Given the description of an element on the screen output the (x, y) to click on. 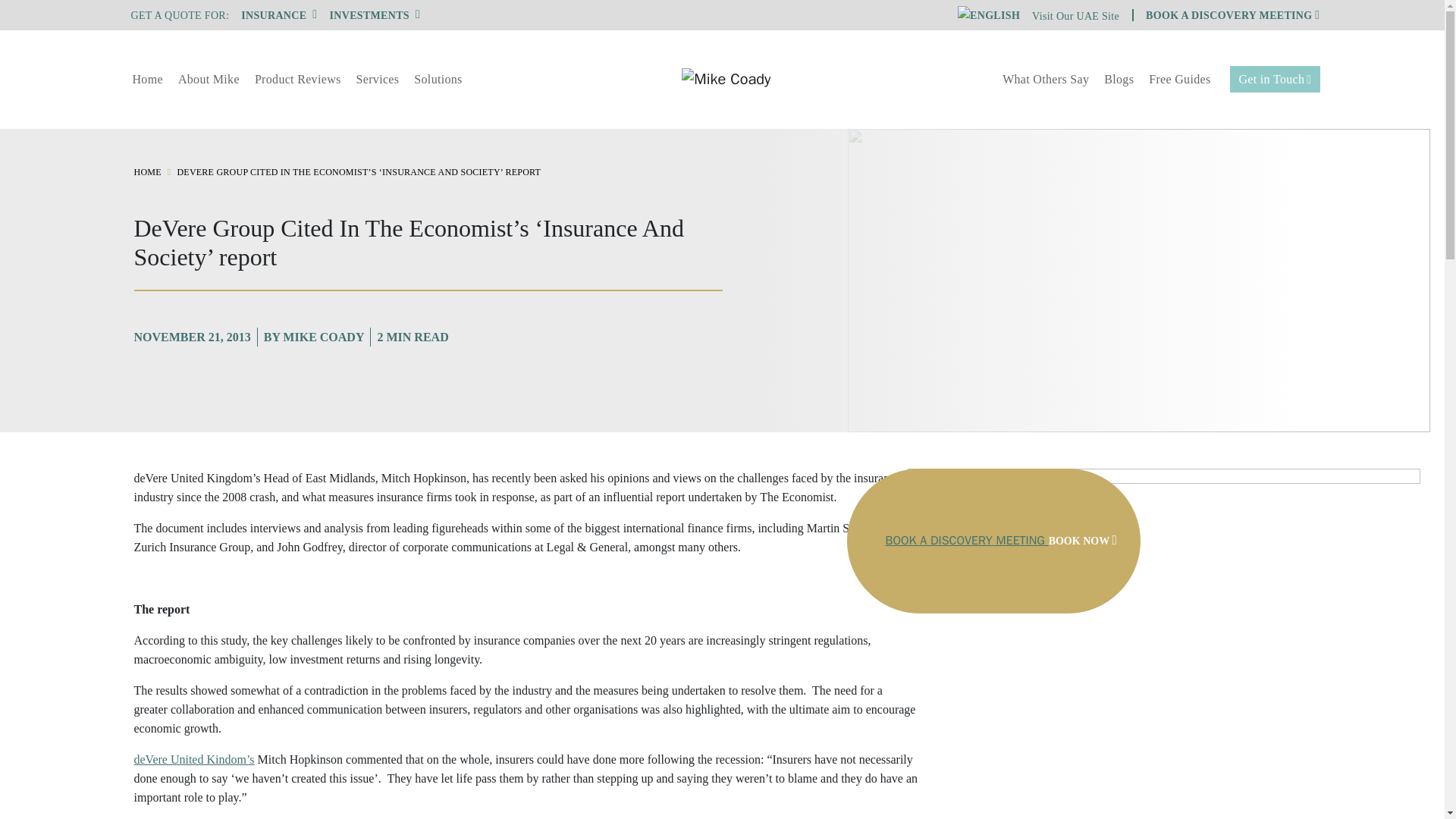
INSURANCE (279, 15)
BOOK A DISCOVERY MEETING (1232, 15)
About Mike (208, 79)
Product Reviews (298, 79)
INVESTMENTS (375, 15)
